Given the description of an element on the screen output the (x, y) to click on. 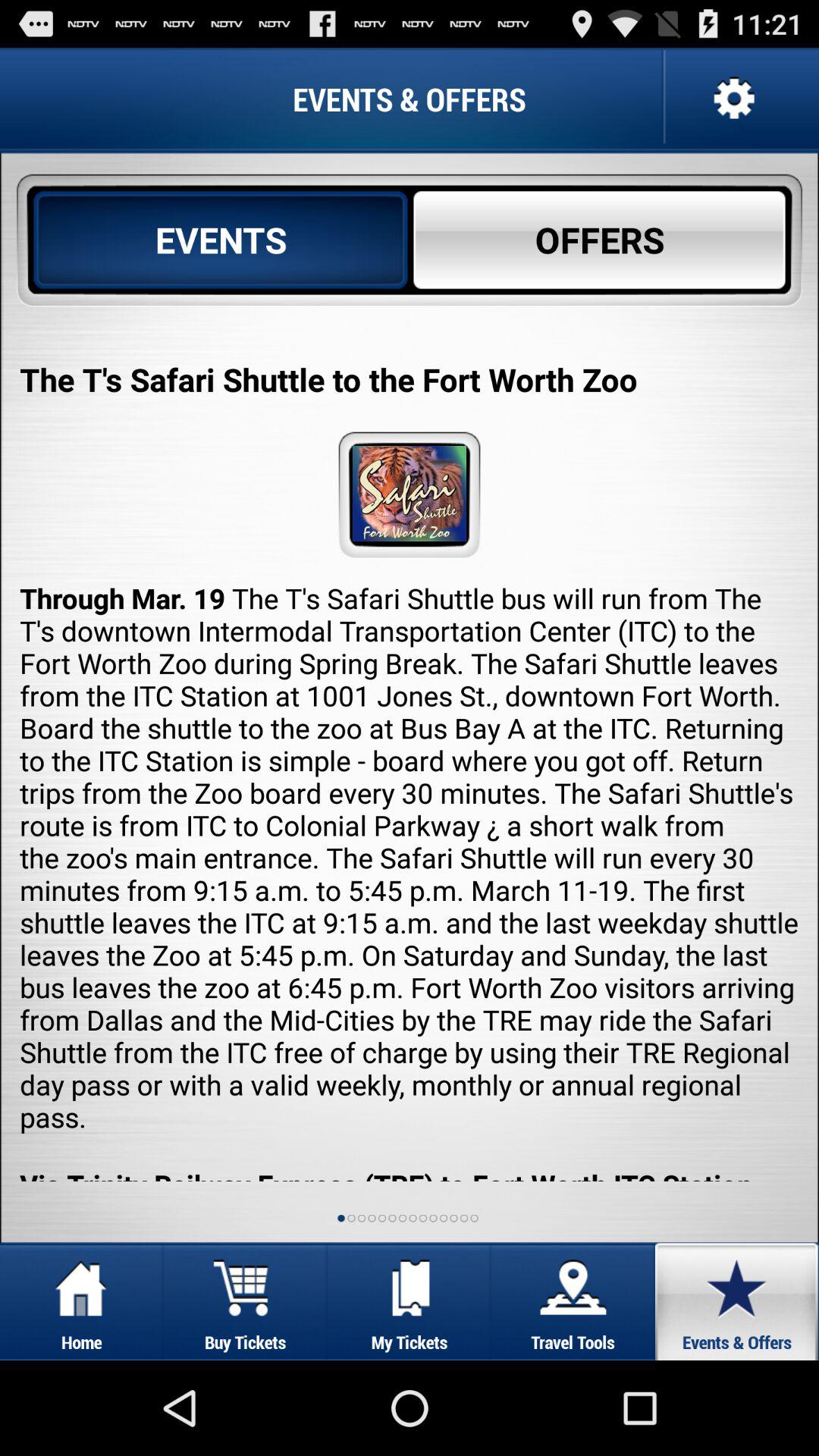
toggle settings (732, 99)
